Given the description of an element on the screen output the (x, y) to click on. 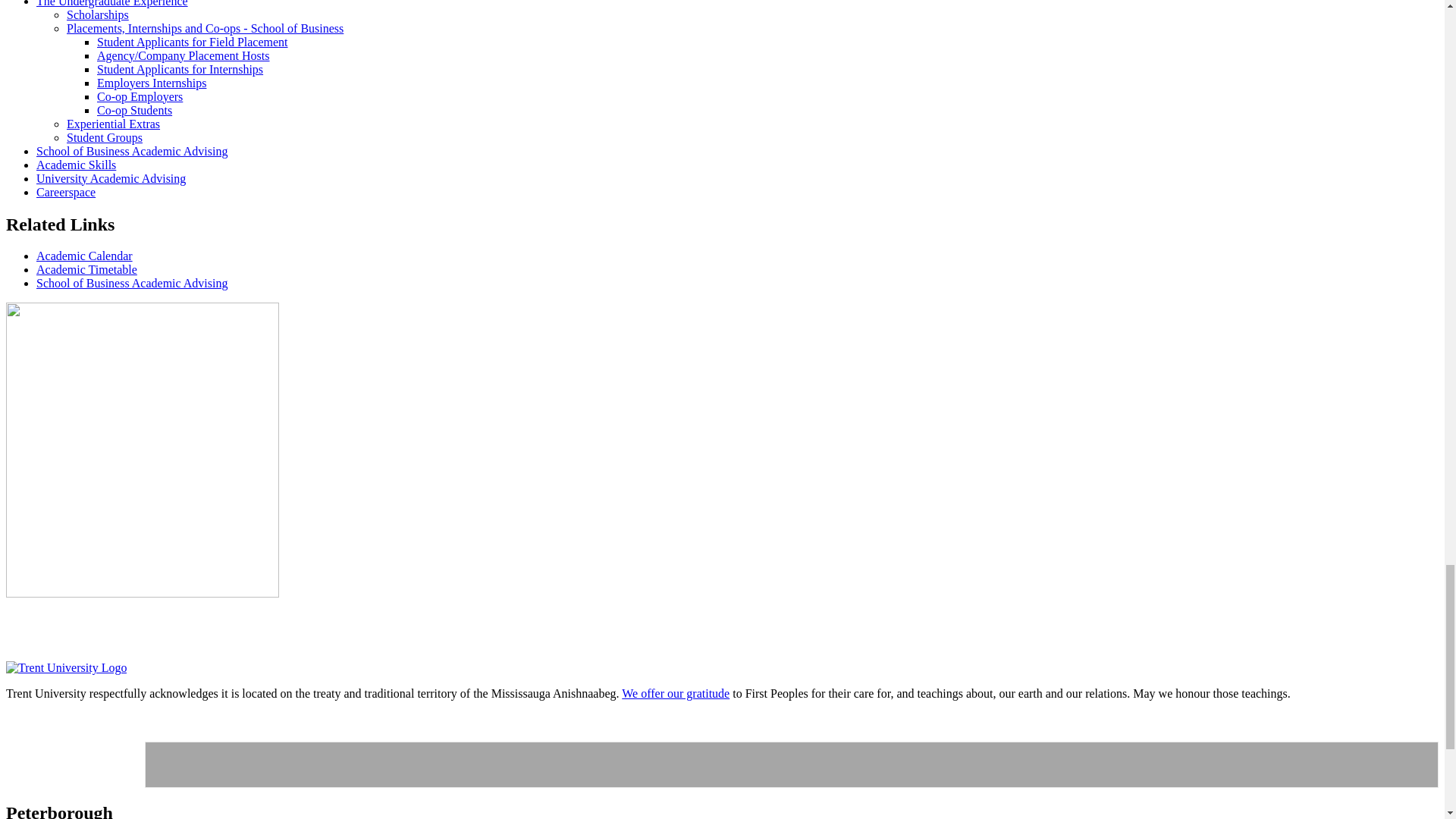
Footer link to homepage (65, 667)
